Given the description of an element on the screen output the (x, y) to click on. 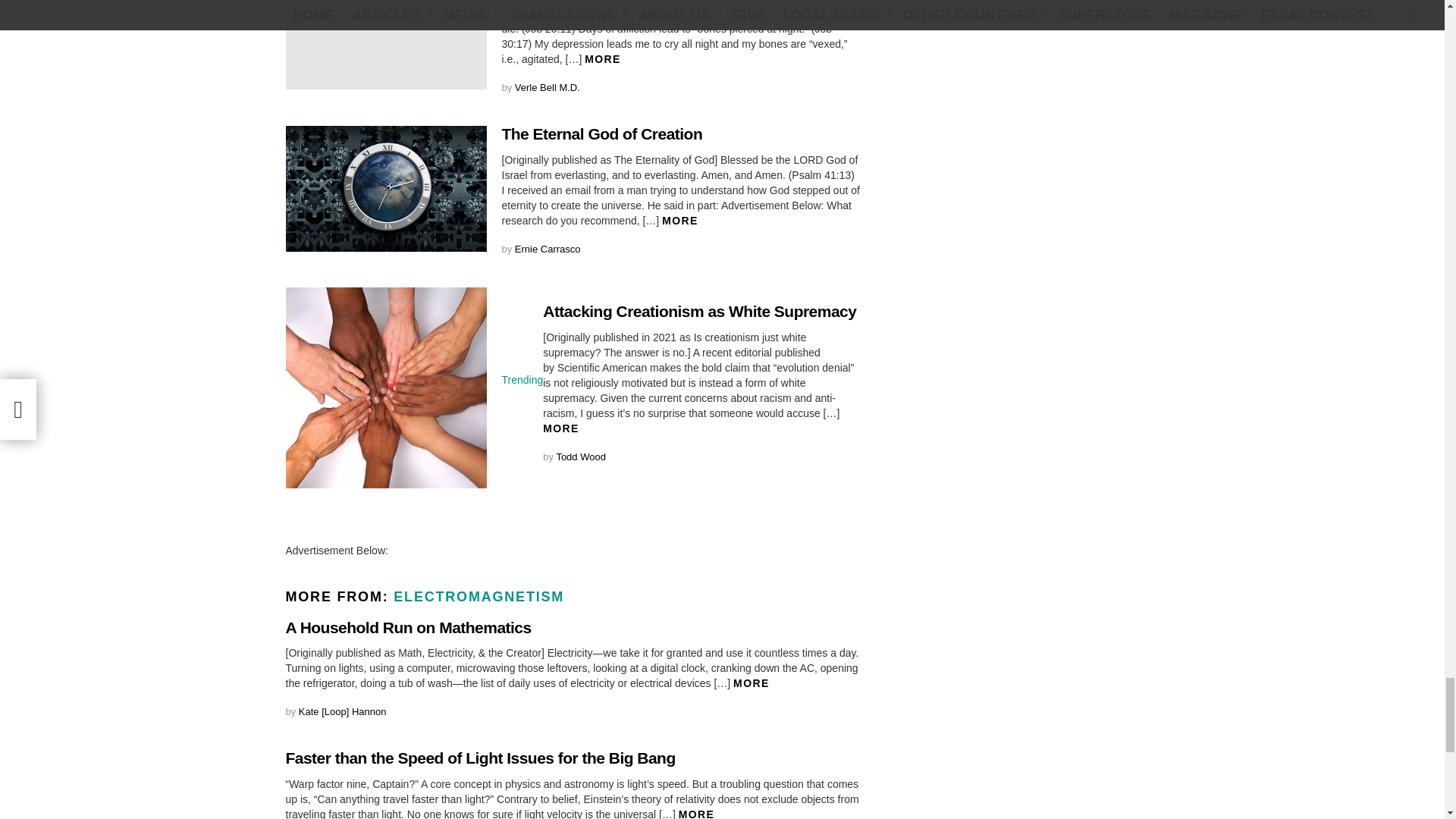
Posts by Ernie Carrasco (547, 248)
Attacking Creationism as White Supremacy (385, 387)
The Eternal God of Creation (385, 188)
Posts by Todd Wood (580, 456)
The Medical Guidance of God: How to Have Healthy Bones (385, 44)
Posts by Verle Bell M.D. (547, 87)
Trending (522, 379)
